Given the description of an element on the screen output the (x, y) to click on. 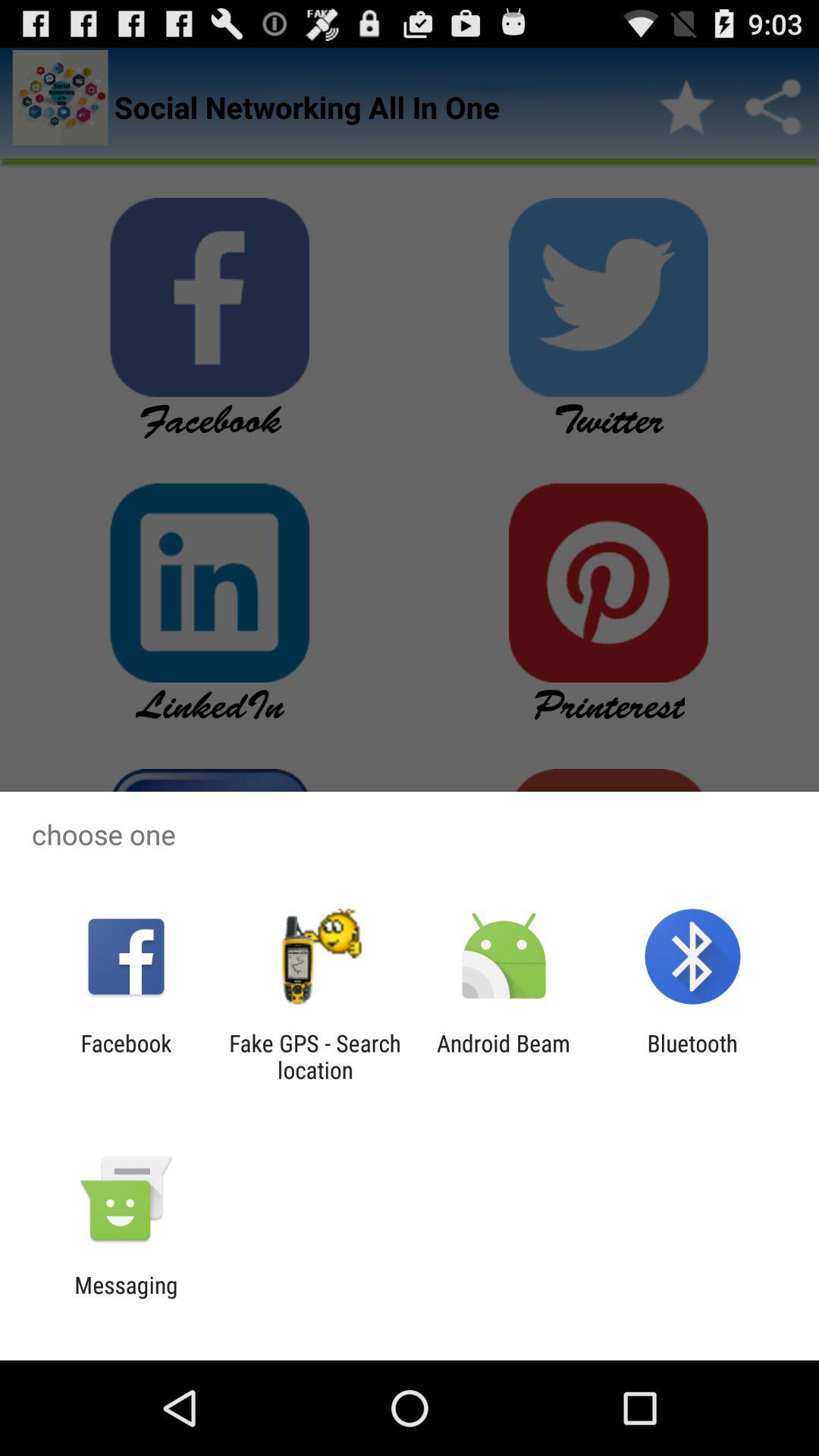
select app at the bottom right corner (692, 1056)
